Given the description of an element on the screen output the (x, y) to click on. 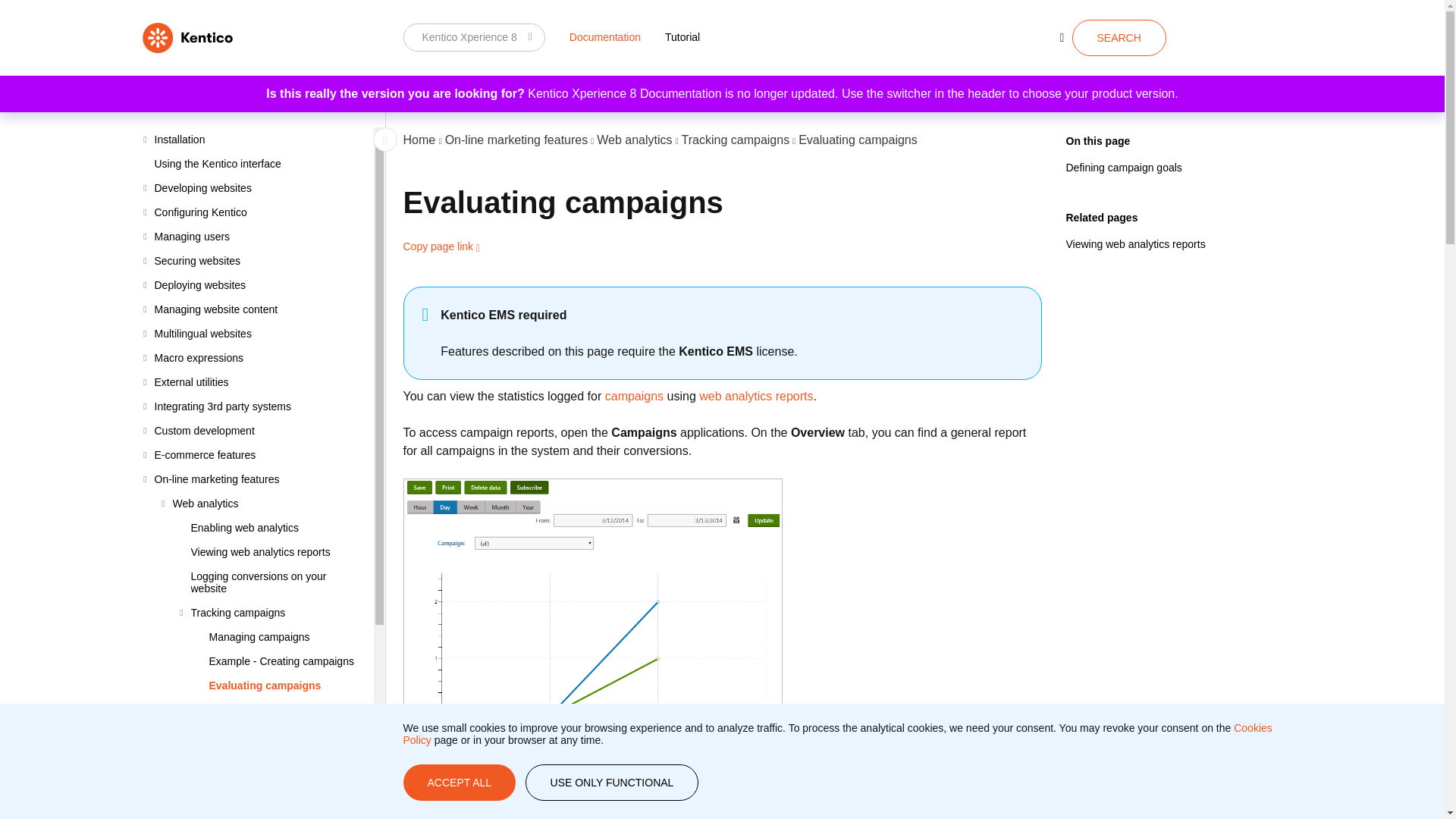
Documentation (604, 37)
SEARCH (1118, 37)
Which Kentico Xperience version do you have? (473, 36)
Tutorial (681, 37)
Tutorial (681, 37)
Installation (257, 139)
Kentico Xperience 8 (473, 36)
Documentation (604, 37)
